Given the description of an element on the screen output the (x, y) to click on. 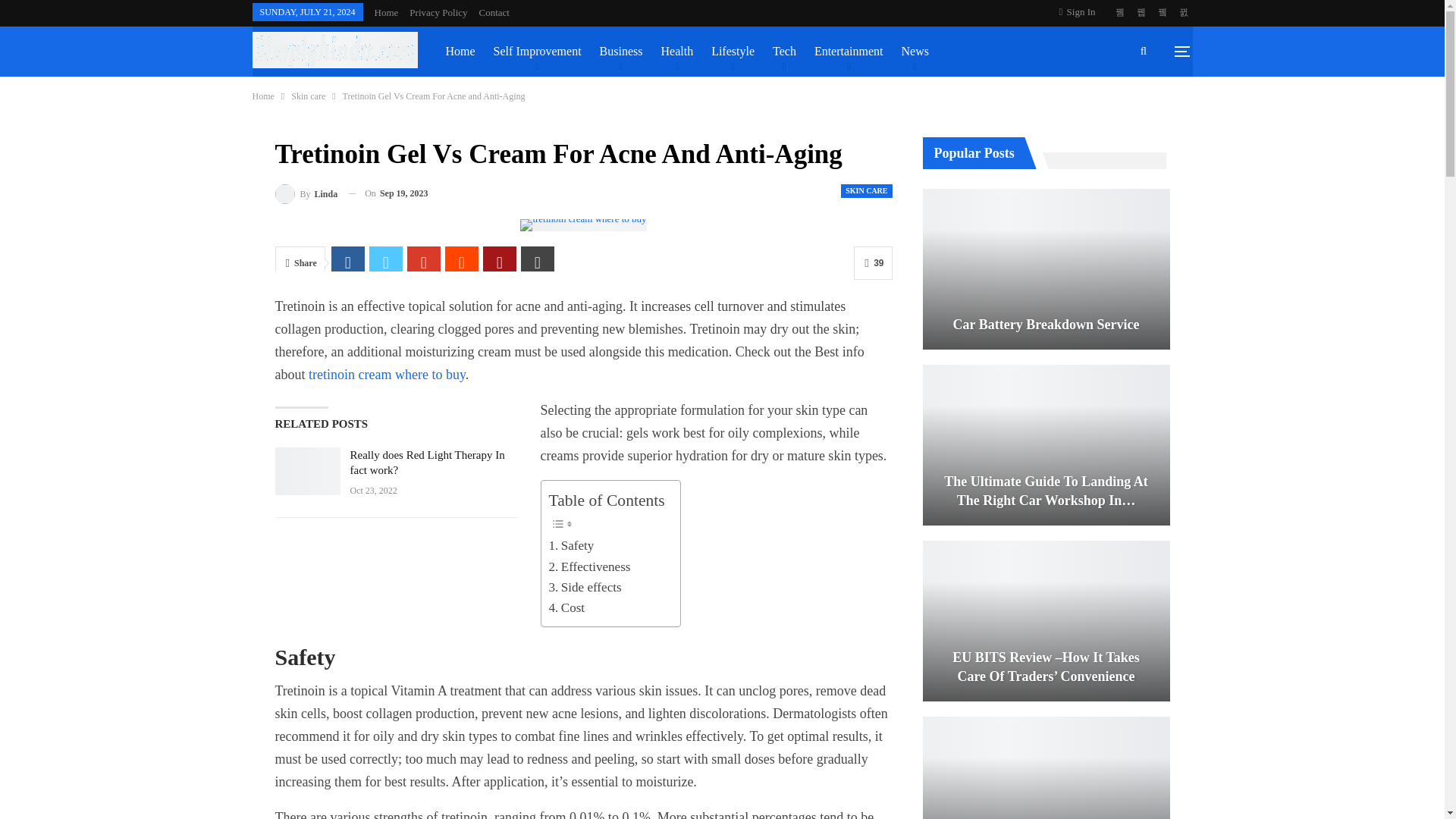
Self Improvement (536, 51)
Business (620, 51)
The Professional Plumbing Secret (1045, 767)
Side effects (584, 587)
Effectiveness (589, 566)
Contact (494, 12)
Privacy Policy (438, 12)
Browse Author Articles (306, 193)
Safety (571, 545)
Home (386, 12)
Really does Red Light Therapy In fact work? (307, 471)
Cost (566, 607)
Car battery breakdown service (1045, 269)
Sign In (1080, 12)
